Given the description of an element on the screen output the (x, y) to click on. 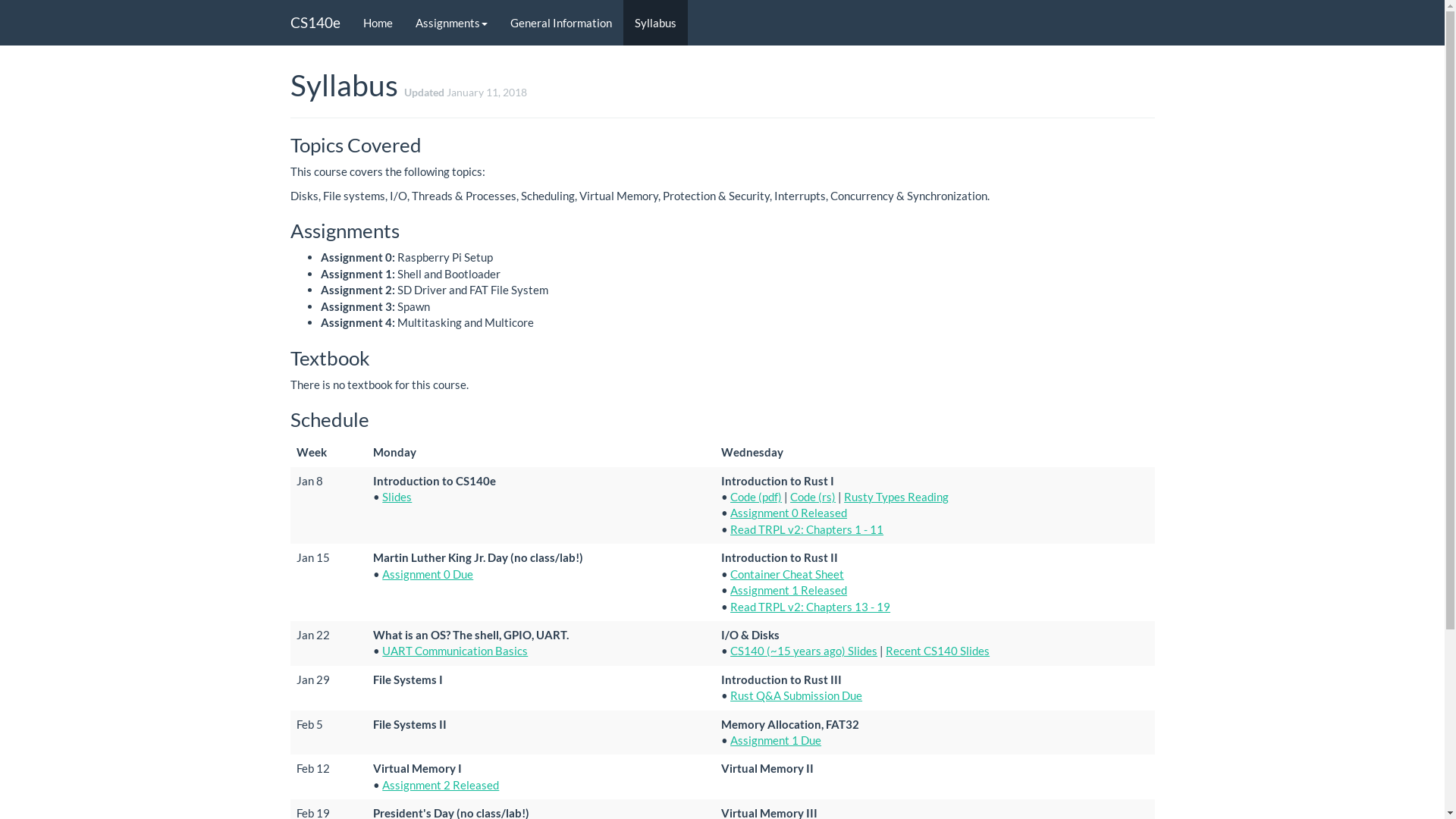
Home Element type: text (377, 22)
CS140e Element type: text (315, 22)
Slides Element type: text (396, 496)
Assignment 1 Due Element type: text (775, 739)
Container Cheat Sheet Element type: text (787, 573)
UART Communication Basics Element type: text (454, 650)
Rusty Types Reading Element type: text (896, 496)
Read TRPL v2: Chapters 13 - 19 Element type: text (810, 606)
Rust Q&A Submission Due Element type: text (796, 695)
Assignment 0 Due Element type: text (427, 573)
Assignment 1 Released Element type: text (788, 589)
Assignments Element type: text (450, 22)
Code (pdf) Element type: text (755, 496)
CS140 (~15 years ago) Slides Element type: text (803, 650)
Recent CS140 Slides Element type: text (937, 650)
Syllabus Element type: text (655, 22)
Code (rs) Element type: text (812, 496)
Assignment 0 Released Element type: text (788, 512)
Assignment 2 Released Element type: text (440, 784)
General Information Element type: text (560, 22)
Read TRPL v2: Chapters 1 - 11 Element type: text (806, 529)
